Given the description of an element on the screen output the (x, y) to click on. 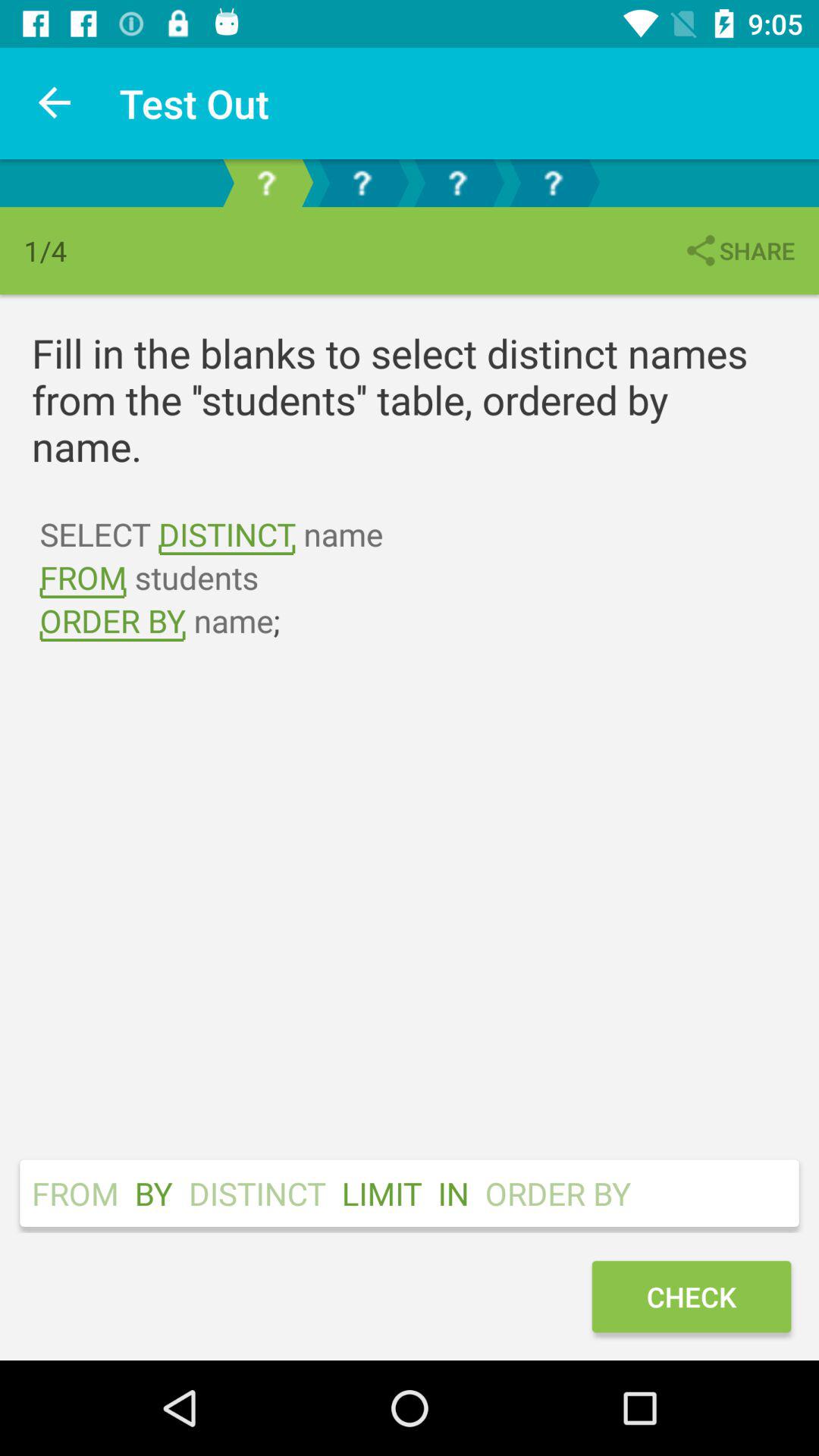
select the icon to the left of test out icon (55, 103)
